Given the description of an element on the screen output the (x, y) to click on. 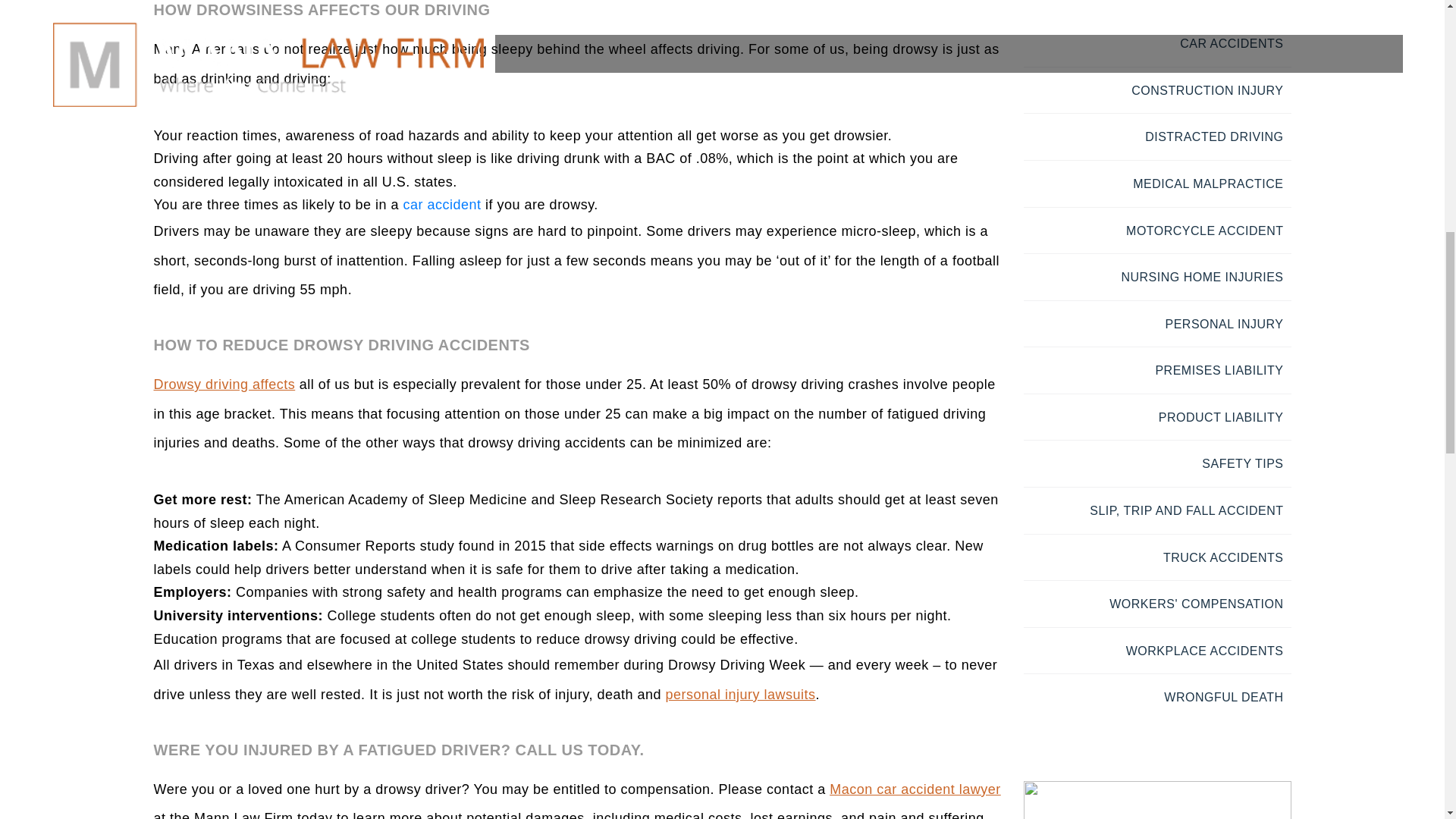
MEDICAL MALPRACTICE (1207, 183)
car accident (442, 204)
CONSTRUCTION INJURY (1206, 90)
personal injury lawsuits (740, 694)
Macon car accident lawyer (915, 789)
Drowsy driving affects (223, 384)
CAR ACCIDENTS (1230, 42)
DISTRACTED DRIVING (1213, 136)
